Given the description of an element on the screen output the (x, y) to click on. 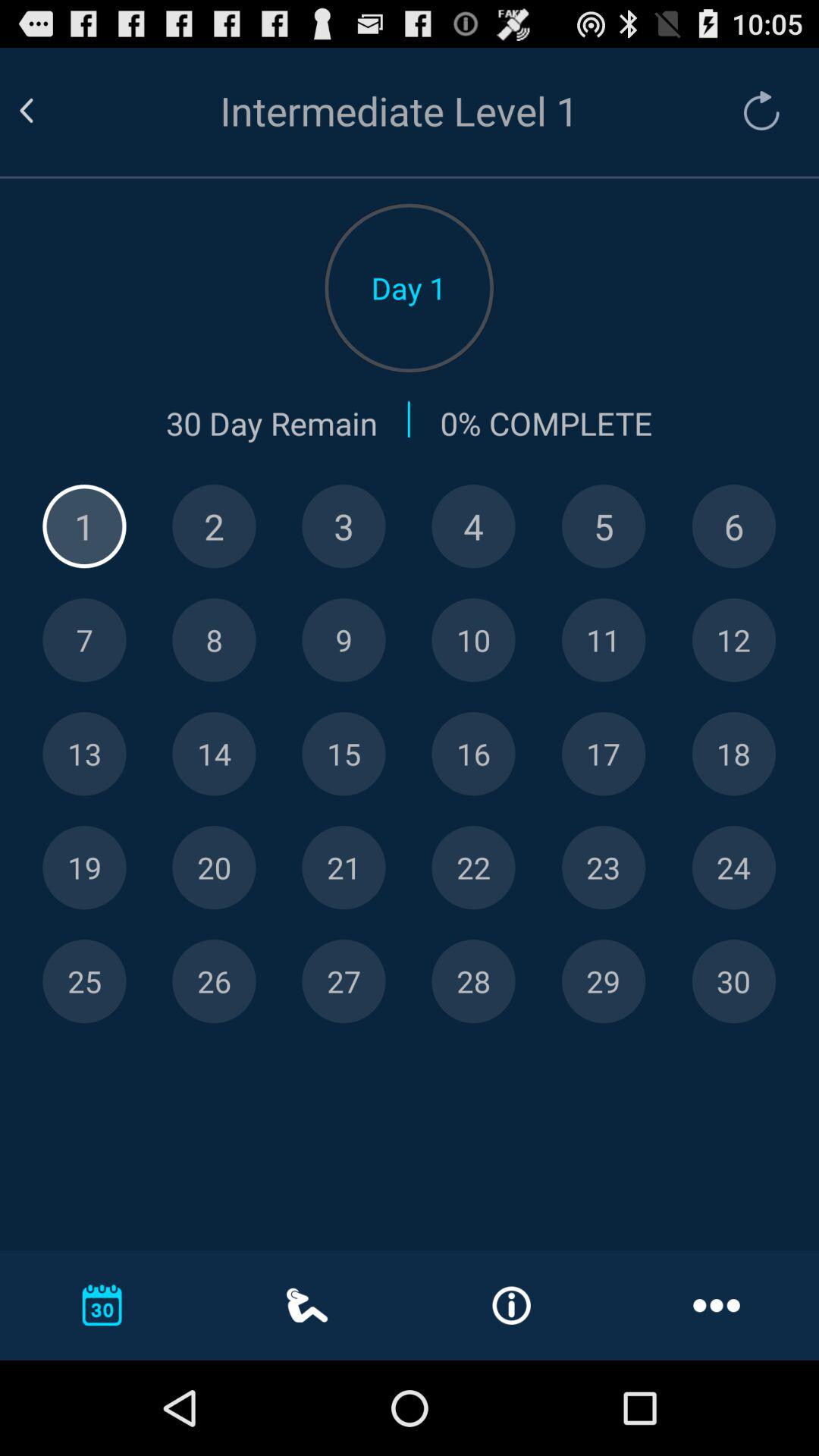
show details of day (84, 526)
